Given the description of an element on the screen output the (x, y) to click on. 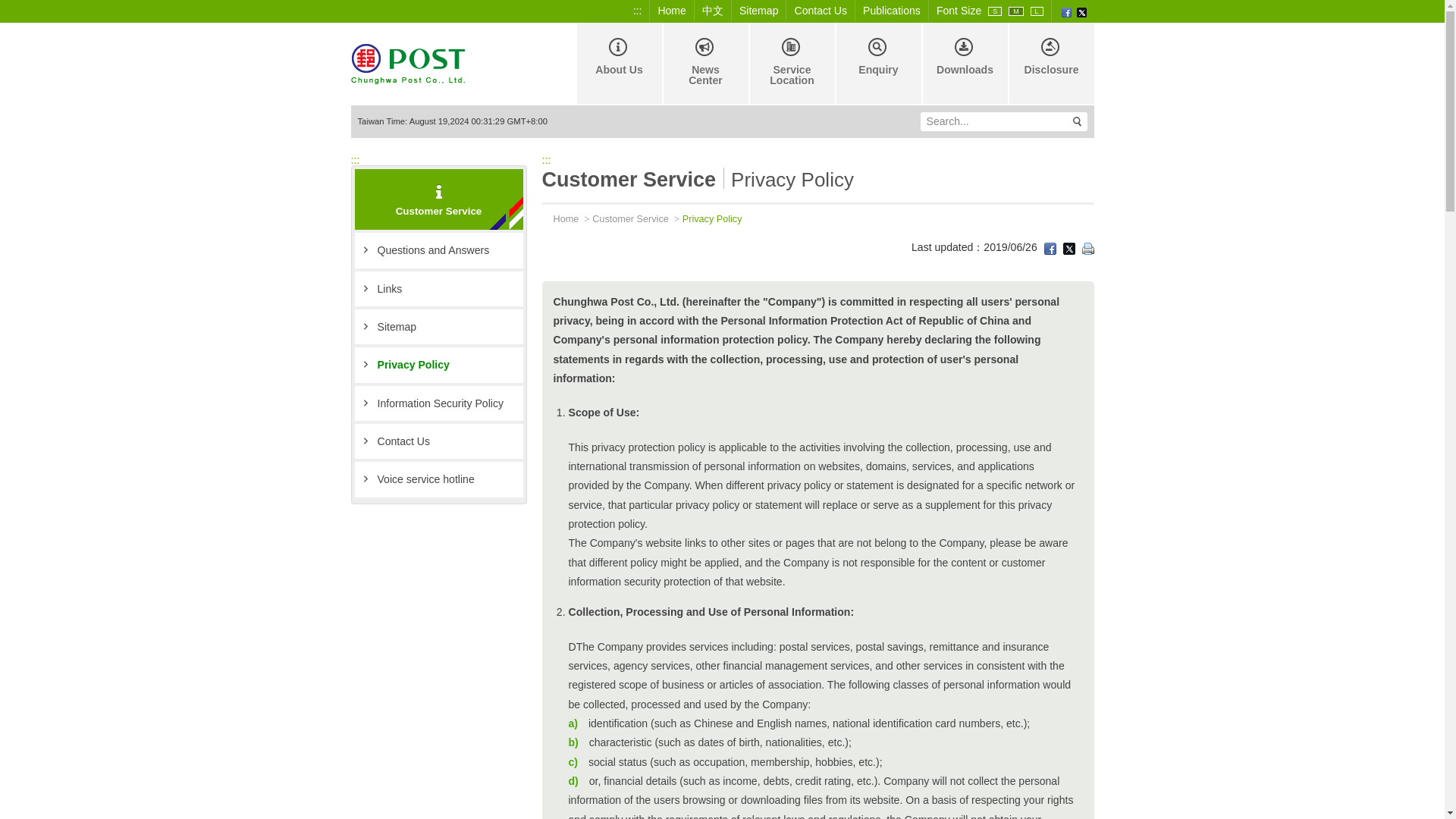
Disclosure (1050, 63)
Downloads (963, 63)
M (1016, 10)
Large (1036, 10)
About Us (618, 63)
Sitemap (438, 326)
Home (671, 10)
Customer Service (630, 218)
Contact Us (820, 10)
Search... (992, 121)
